Given the description of an element on the screen output the (x, y) to click on. 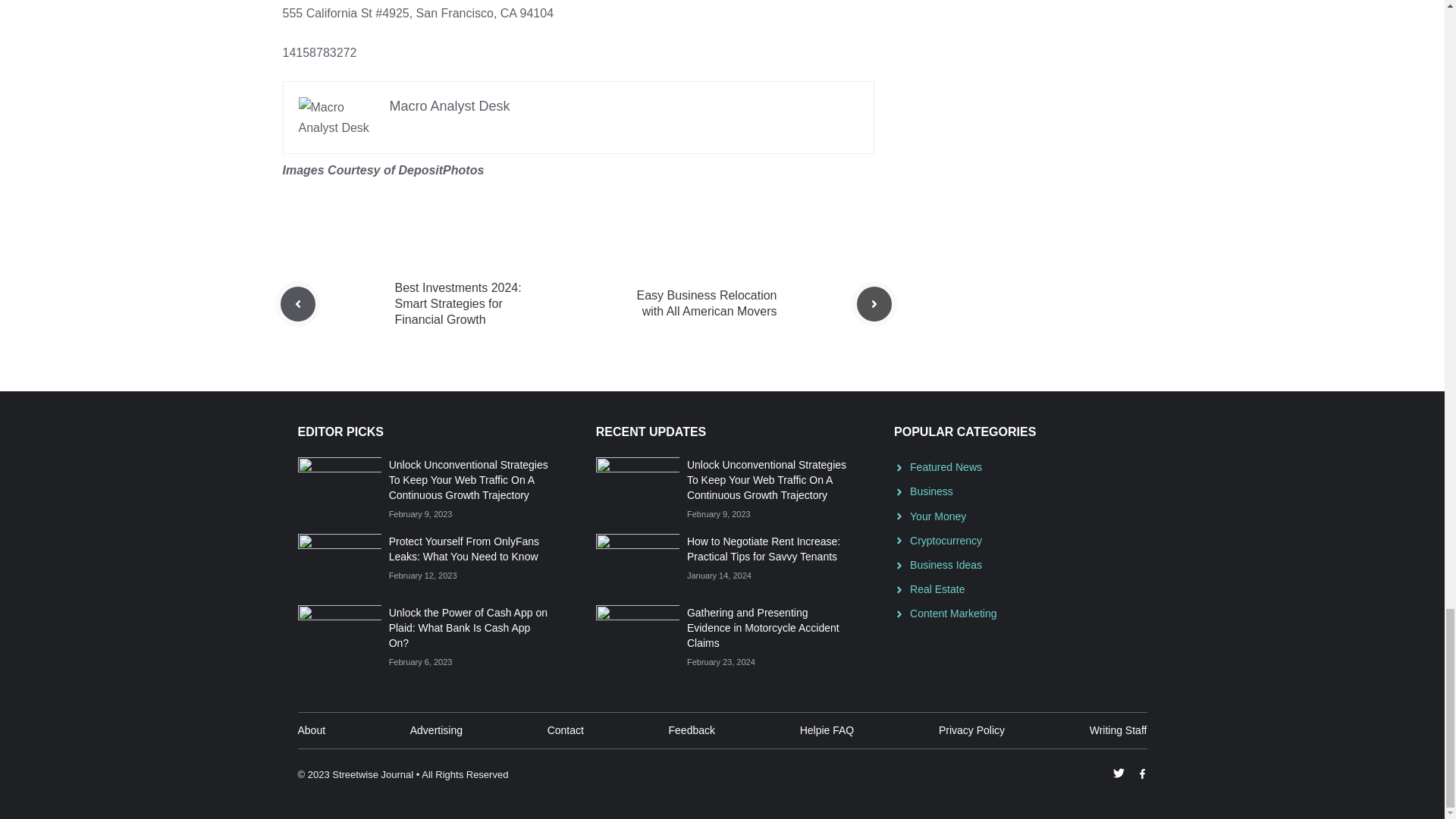
Easy Business Relocation with All American Movers (707, 303)
Protect Yourself From OnlyFans Leaks: What You Need to Know (463, 548)
Best Investments 2024: Smart Strategies for Financial Growth (457, 303)
DepositPhotos (440, 169)
Macro Analyst Desk (450, 105)
